Given the description of an element on the screen output the (x, y) to click on. 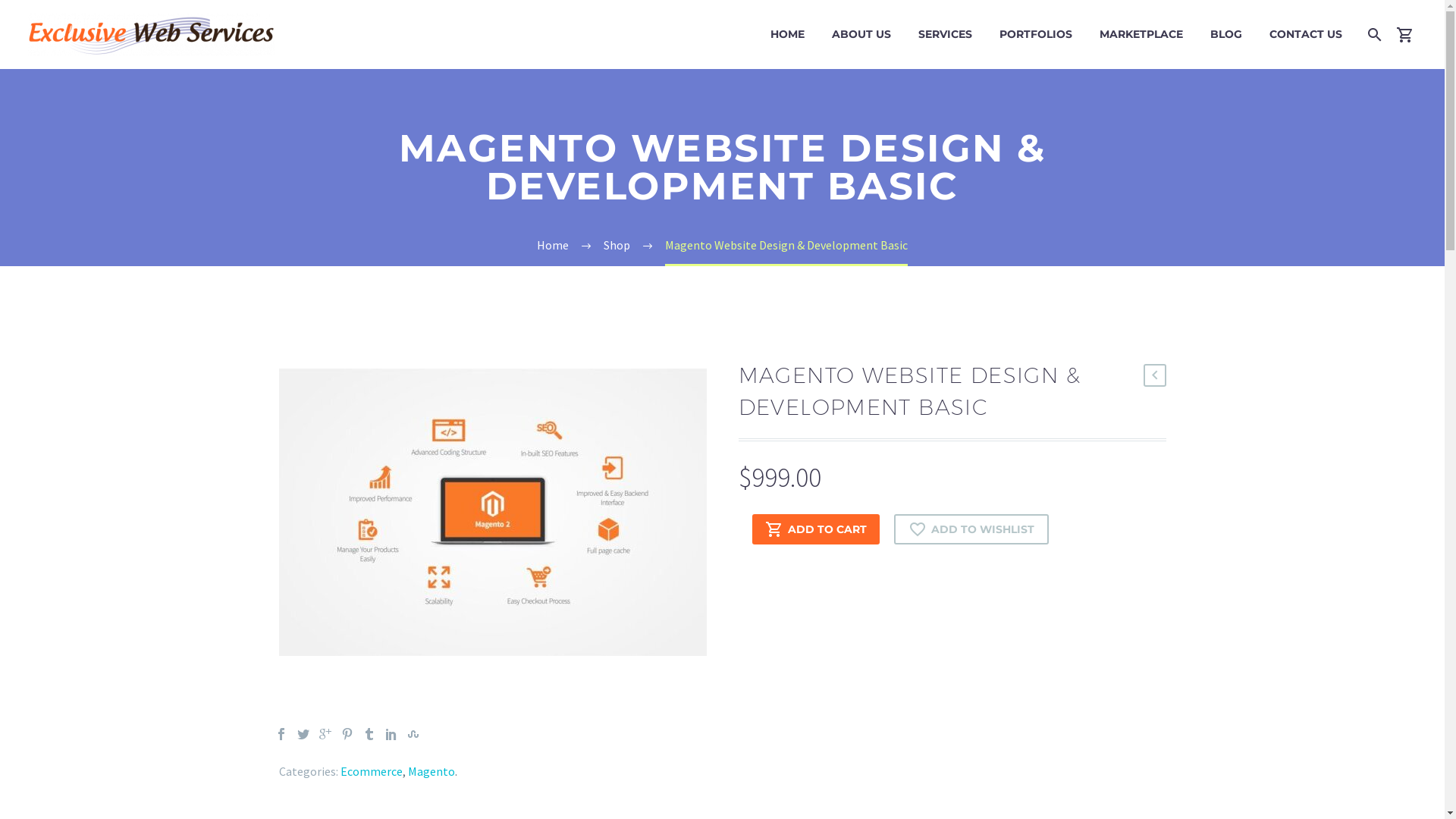
Google Plus Element type: hover (324, 734)
Shop Element type: text (616, 244)
ADD TO WISHLIST Element type: text (970, 529)
ABOUT US Element type: text (861, 34)
PORTFOLIOS Element type: text (1035, 34)
Ecommerce Element type: text (370, 770)
LinkedIn Element type: hover (391, 734)
Home Element type: text (552, 244)
MARKETPLACE Element type: text (1141, 34)
SERVICES Element type: text (944, 34)
CONTACT US Element type: text (1305, 34)
BLOG Element type: text (1225, 34)
Pinterest Element type: hover (347, 734)
Facebook Element type: hover (280, 734)
ADD TO CART Element type: text (815, 529)
Tumblr Element type: hover (368, 734)
HOME Element type: text (787, 34)
StumbleUpon Element type: hover (412, 734)
Magento Element type: text (431, 770)
Twitter Element type: hover (303, 734)
